Given the description of an element on the screen output the (x, y) to click on. 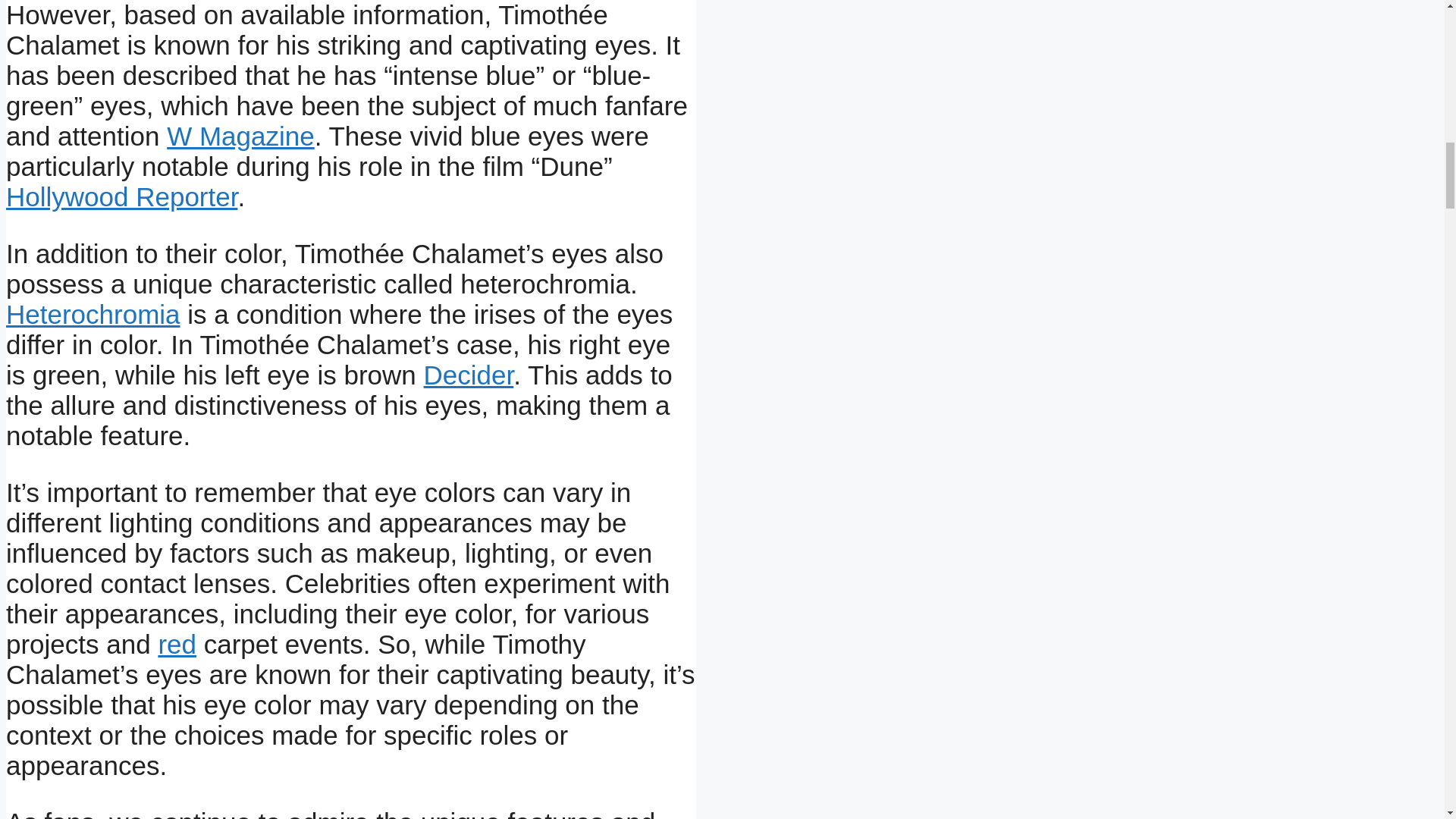
Hollywood Reporter (121, 196)
W Magazine (240, 135)
red (176, 644)
Decider (468, 374)
Heterochromia (92, 314)
